Given the description of an element on the screen output the (x, y) to click on. 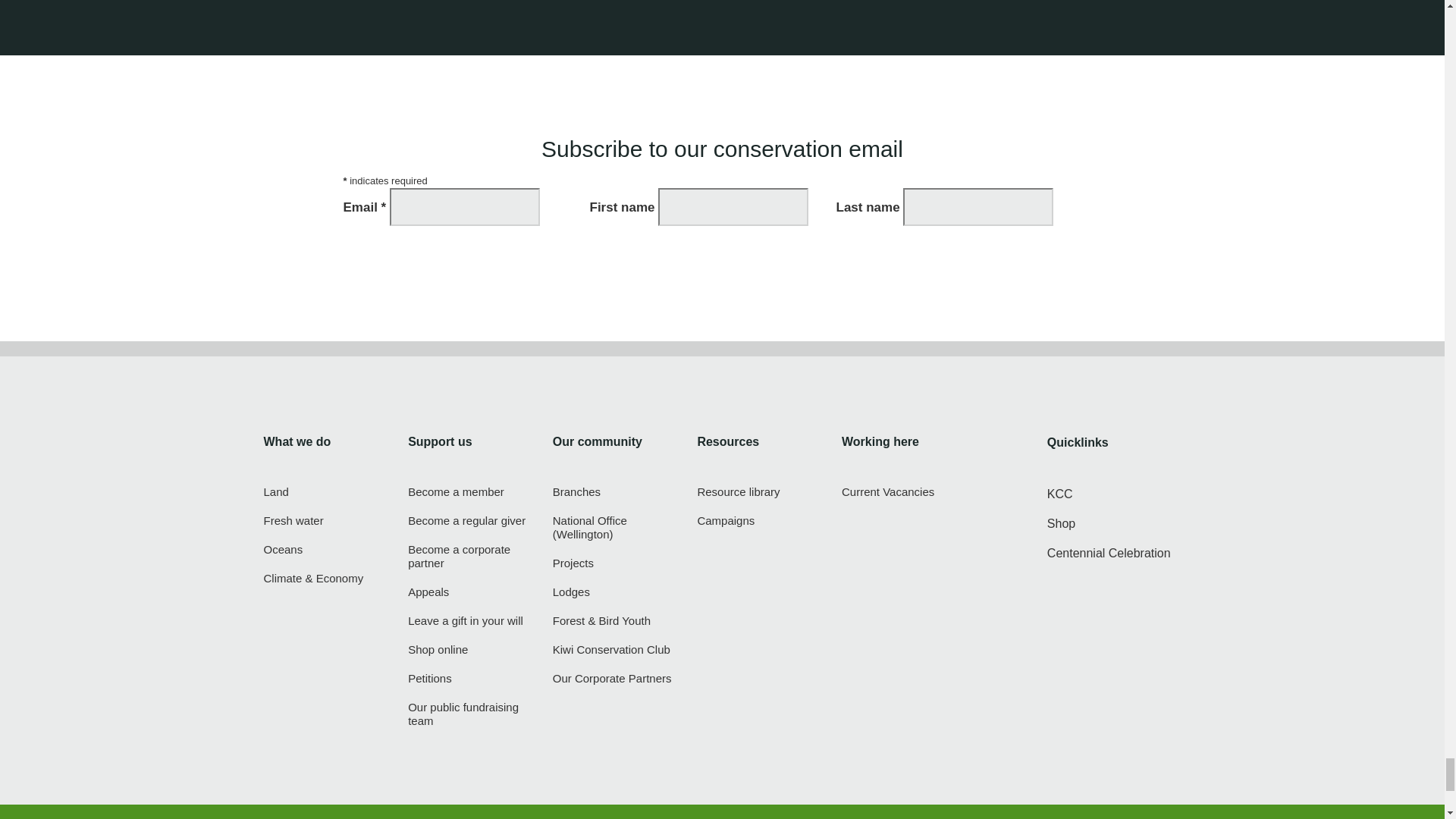
Our sponsors page (614, 678)
